Given the description of an element on the screen output the (x, y) to click on. 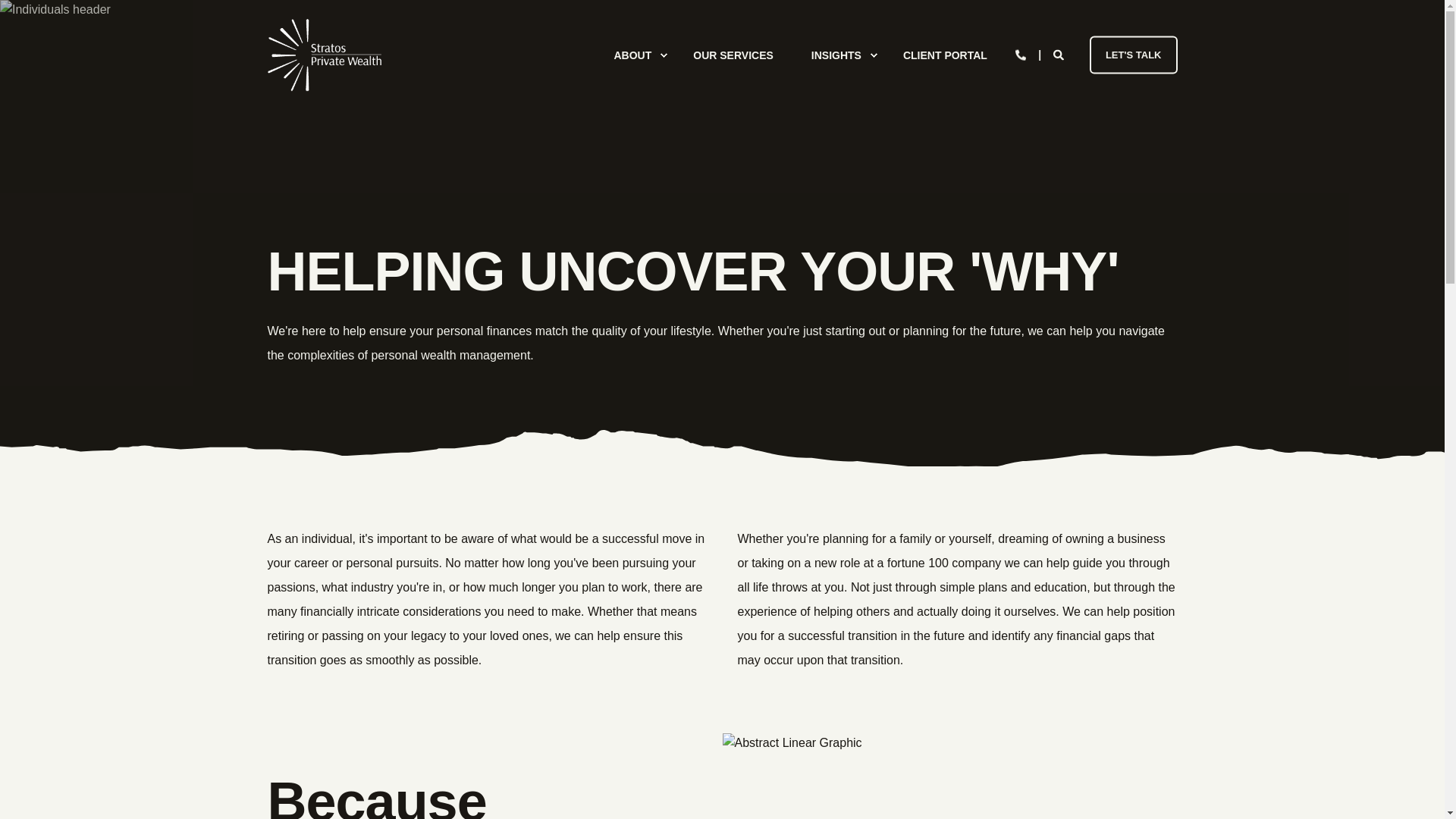
logo (323, 54)
INSIGHTS (837, 54)
ABOUT (634, 54)
OUR SERVICES (733, 54)
CLIENT PORTAL (935, 54)
LET'S TALK (1133, 55)
